Given the description of an element on the screen output the (x, y) to click on. 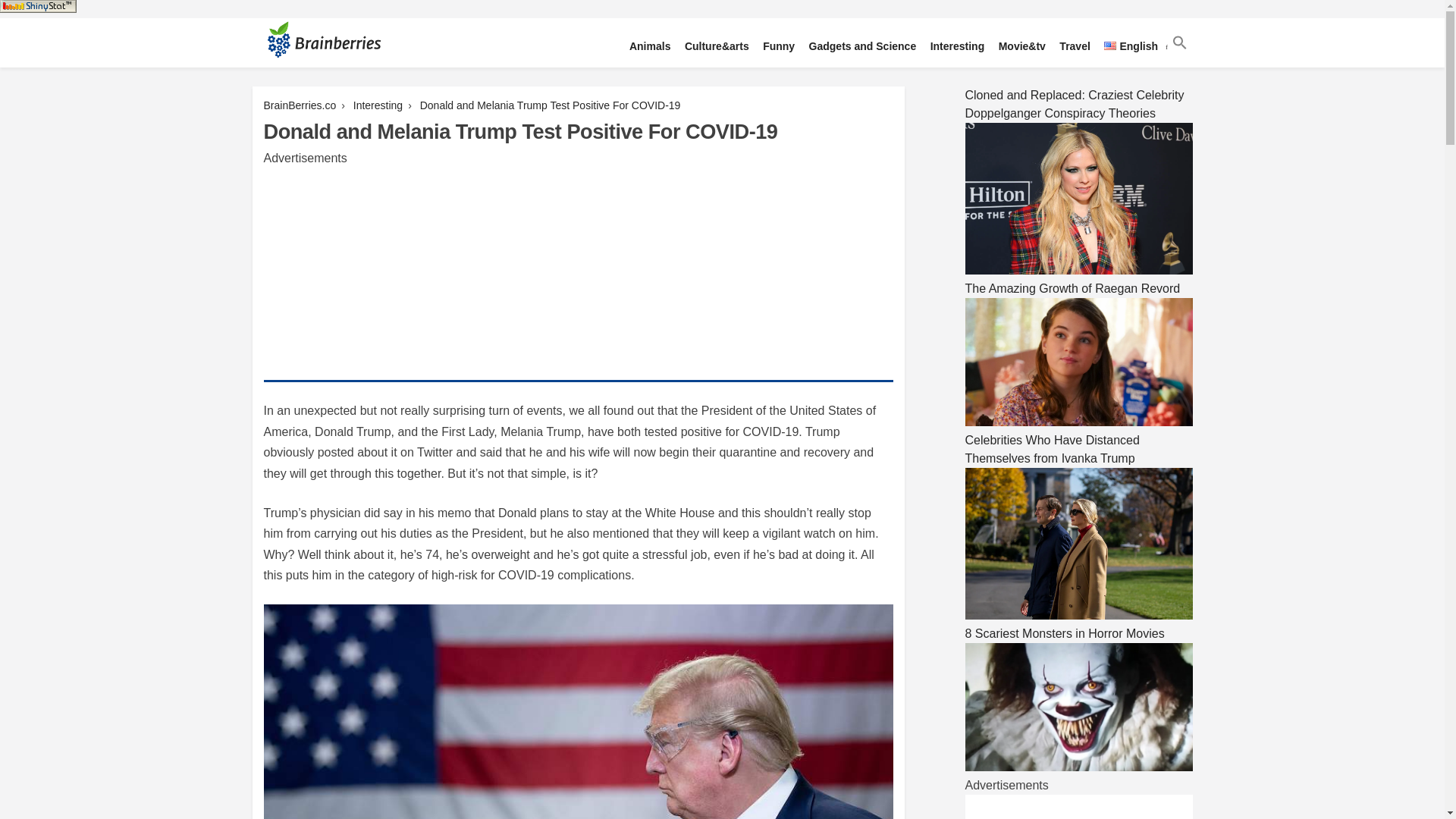
Advertisement (1077, 806)
Gadgets and Science (862, 47)
Animals (649, 47)
Interesting (378, 105)
Advertisement (578, 273)
Brain Berries (301, 85)
BrainBerries.co (299, 105)
Donald and Melania Trump Test Positive For COVID-19 (550, 105)
Interesting (957, 47)
English (1131, 47)
